Given the description of an element on the screen output the (x, y) to click on. 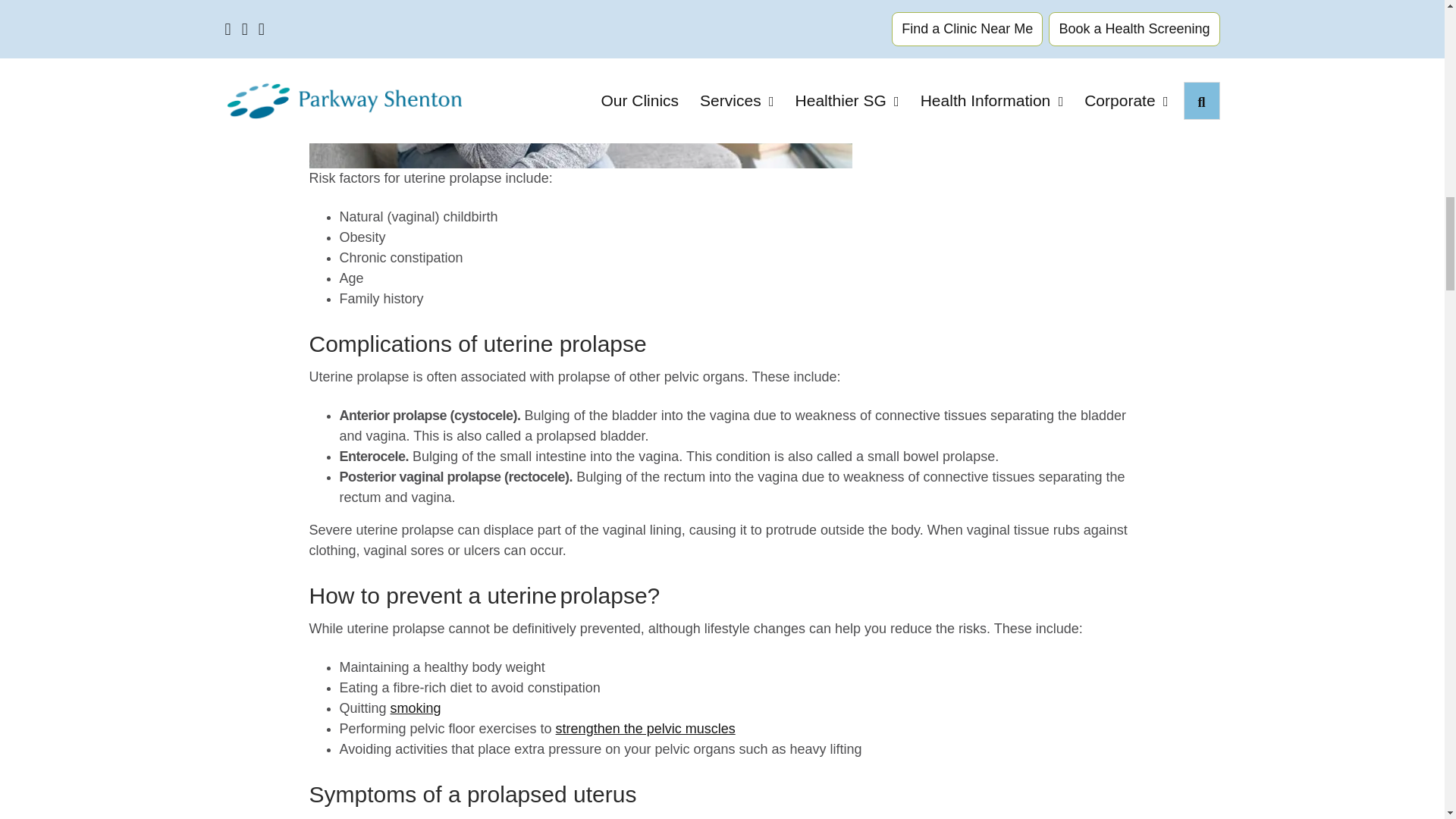
Uterine prolapse risks (579, 84)
